Given the description of an element on the screen output the (x, y) to click on. 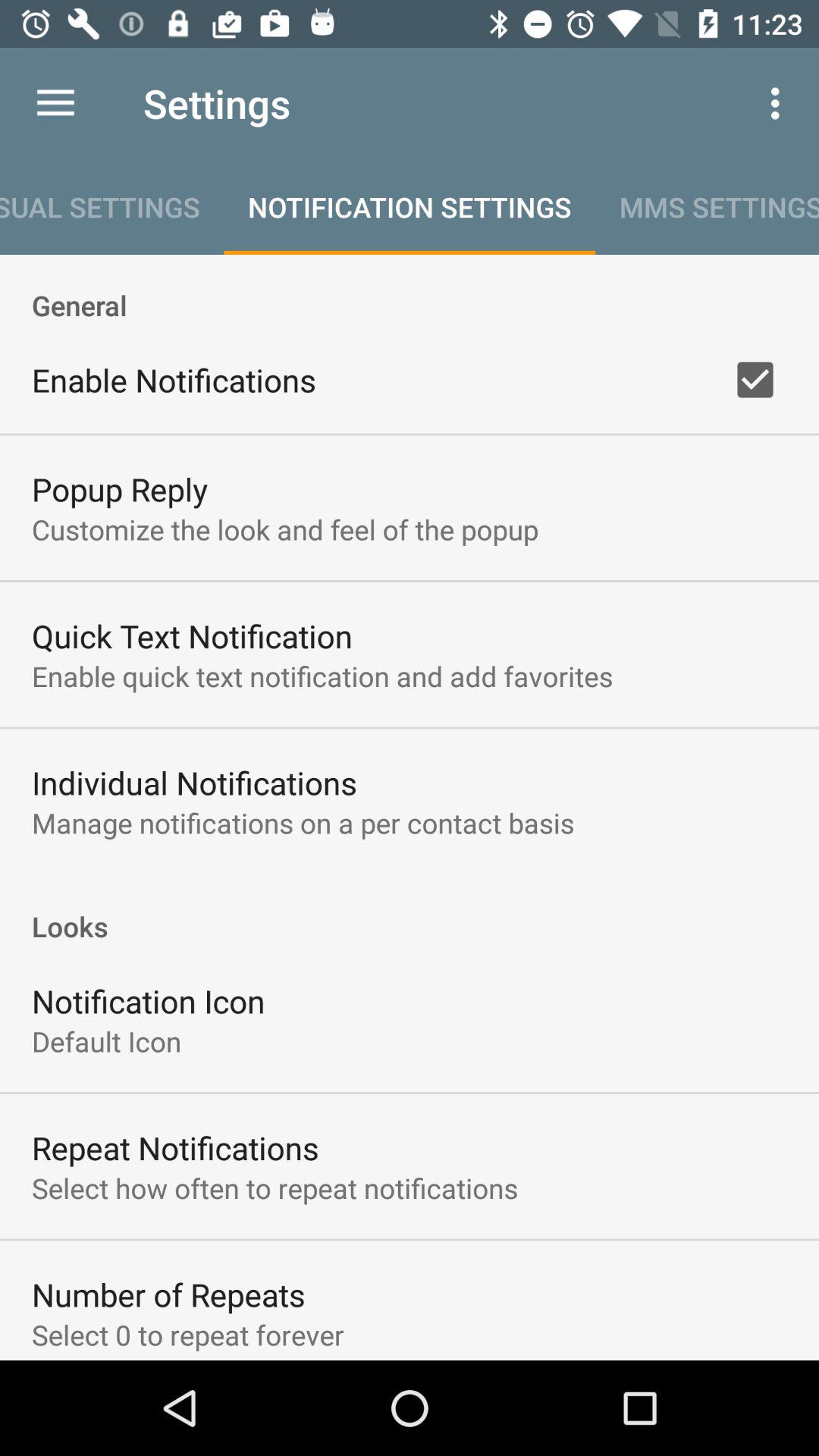
press the icon above select 0 to (168, 1294)
